Given the description of an element on the screen output the (x, y) to click on. 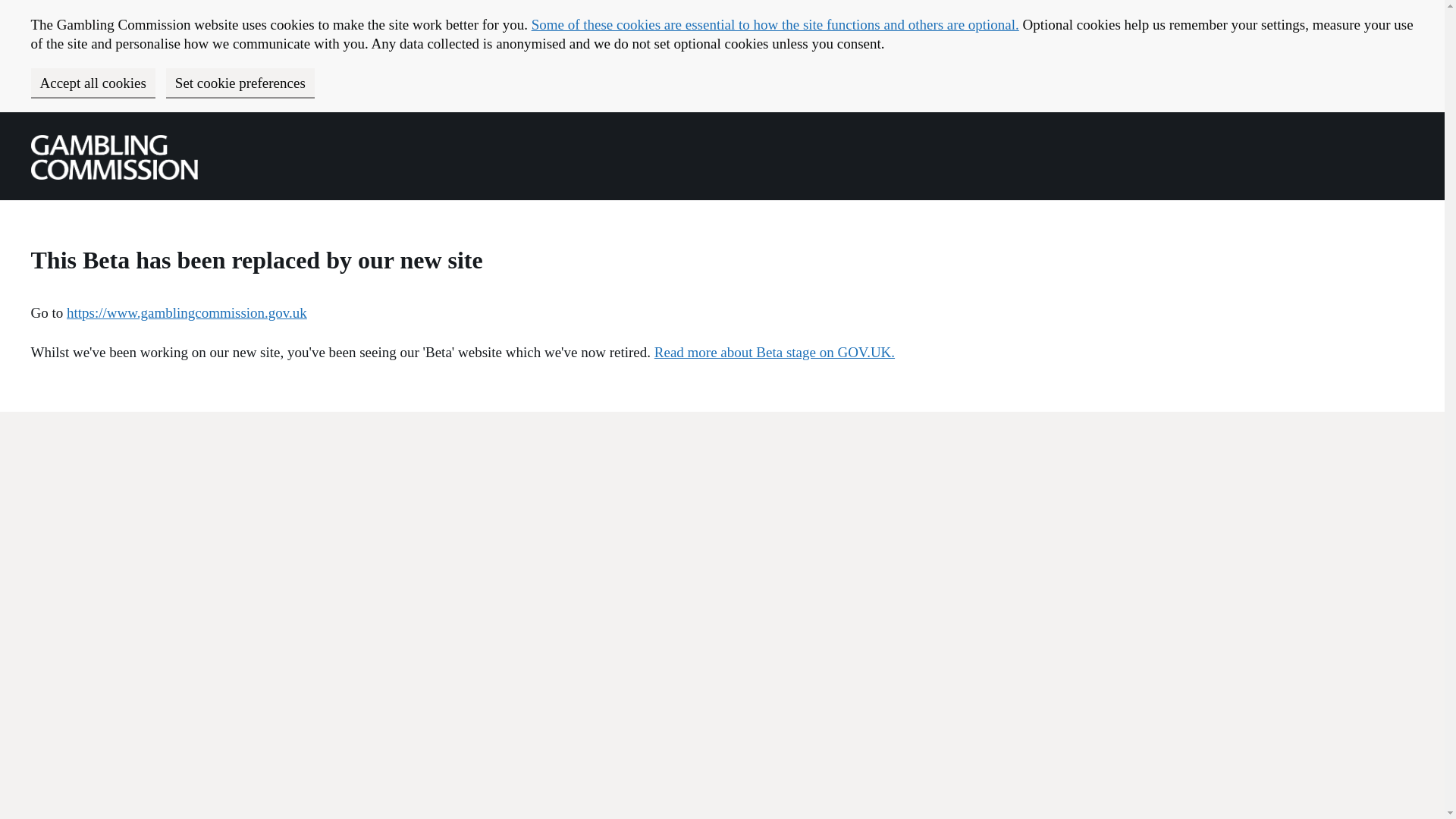
Read more about Beta stage on GOV.UK. (774, 351)
Accept all cookies (92, 82)
Skip to main content (11, 119)
Set cookie preferences (239, 82)
